Given the description of an element on the screen output the (x, y) to click on. 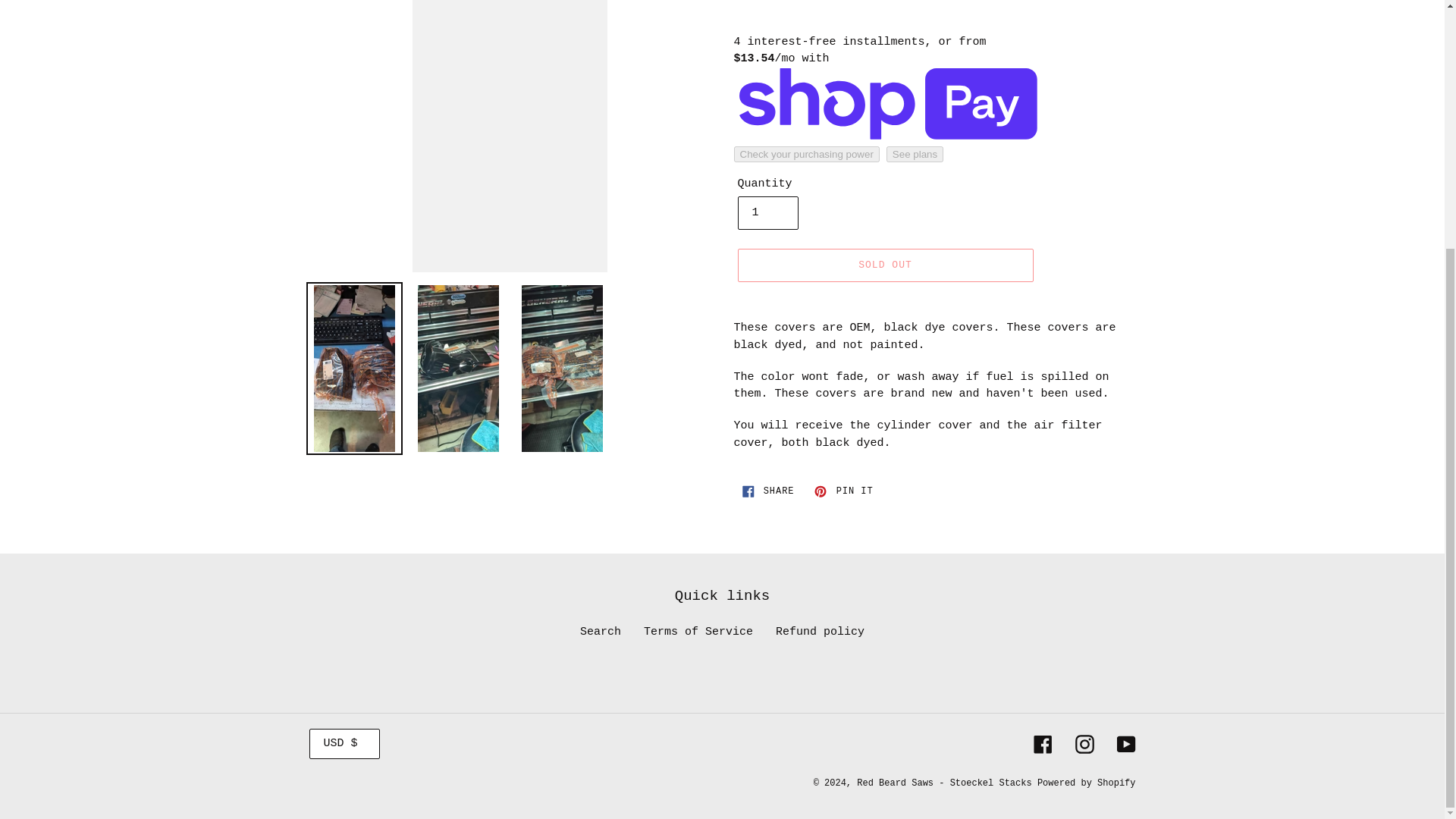
1 (766, 213)
Refund policy (843, 491)
SOLD OUT (820, 631)
Terms of Service (884, 264)
Search (697, 631)
